Given the description of an element on the screen output the (x, y) to click on. 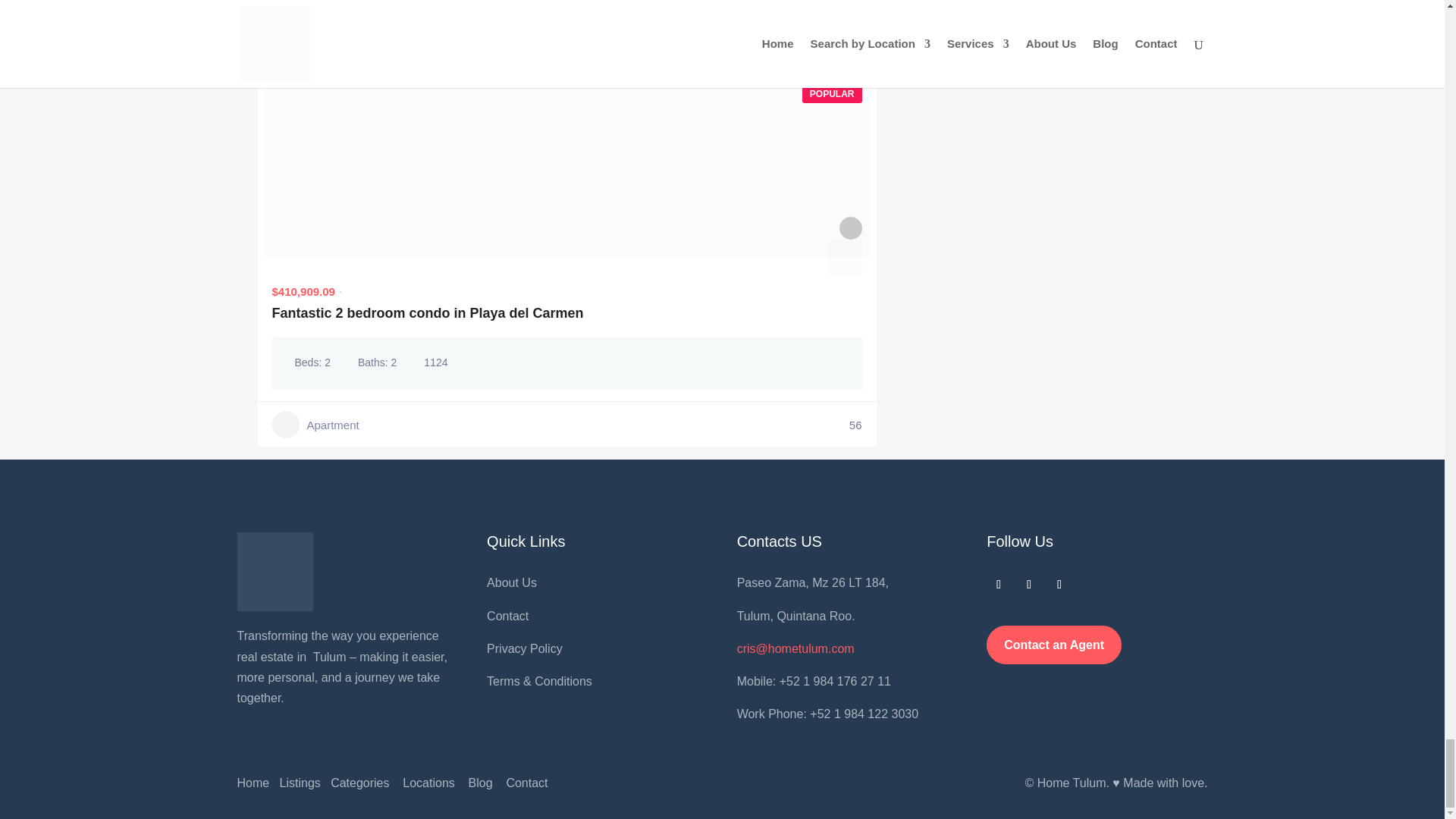
Follow on Youtube (1058, 584)
Follow on Facebook (998, 584)
home-tulum-100px-hite (274, 571)
Follow on Instagram (1028, 584)
